Given the description of an element on the screen output the (x, y) to click on. 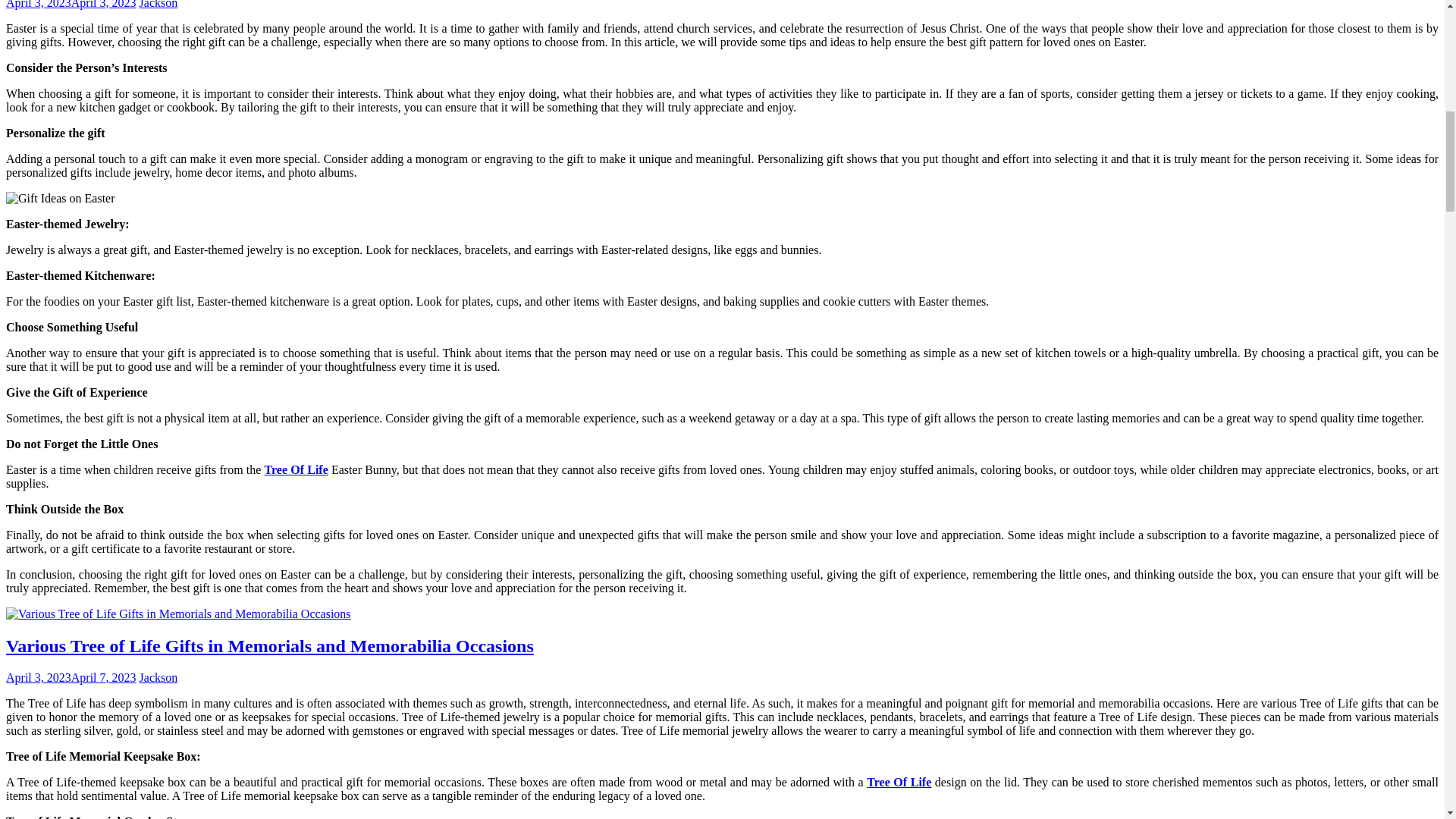
Tree Of Life (898, 781)
April 3, 2023April 7, 2023 (70, 676)
Jackson (158, 4)
April 3, 2023April 3, 2023 (70, 4)
Tree Of Life (296, 469)
Jackson (158, 676)
